Given the description of an element on the screen output the (x, y) to click on. 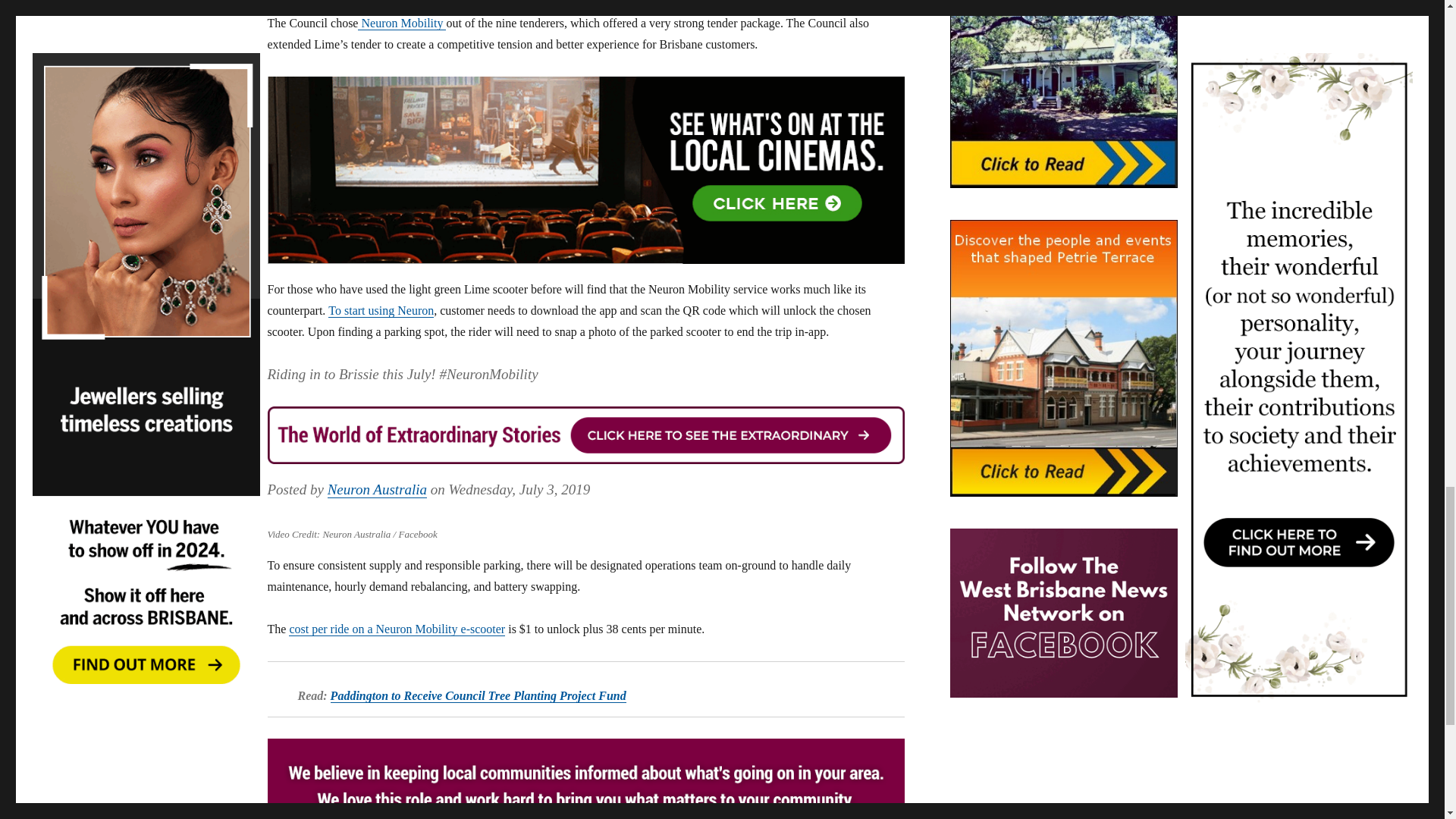
cost per ride on a Neuron Mobility e-scooter (396, 628)
To start using Neuron (381, 309)
Neuron Australia (376, 489)
Paddington to Receive Council Tree Planting Project Fund (478, 695)
Neuron Mobility (401, 22)
